Given the description of an element on the screen output the (x, y) to click on. 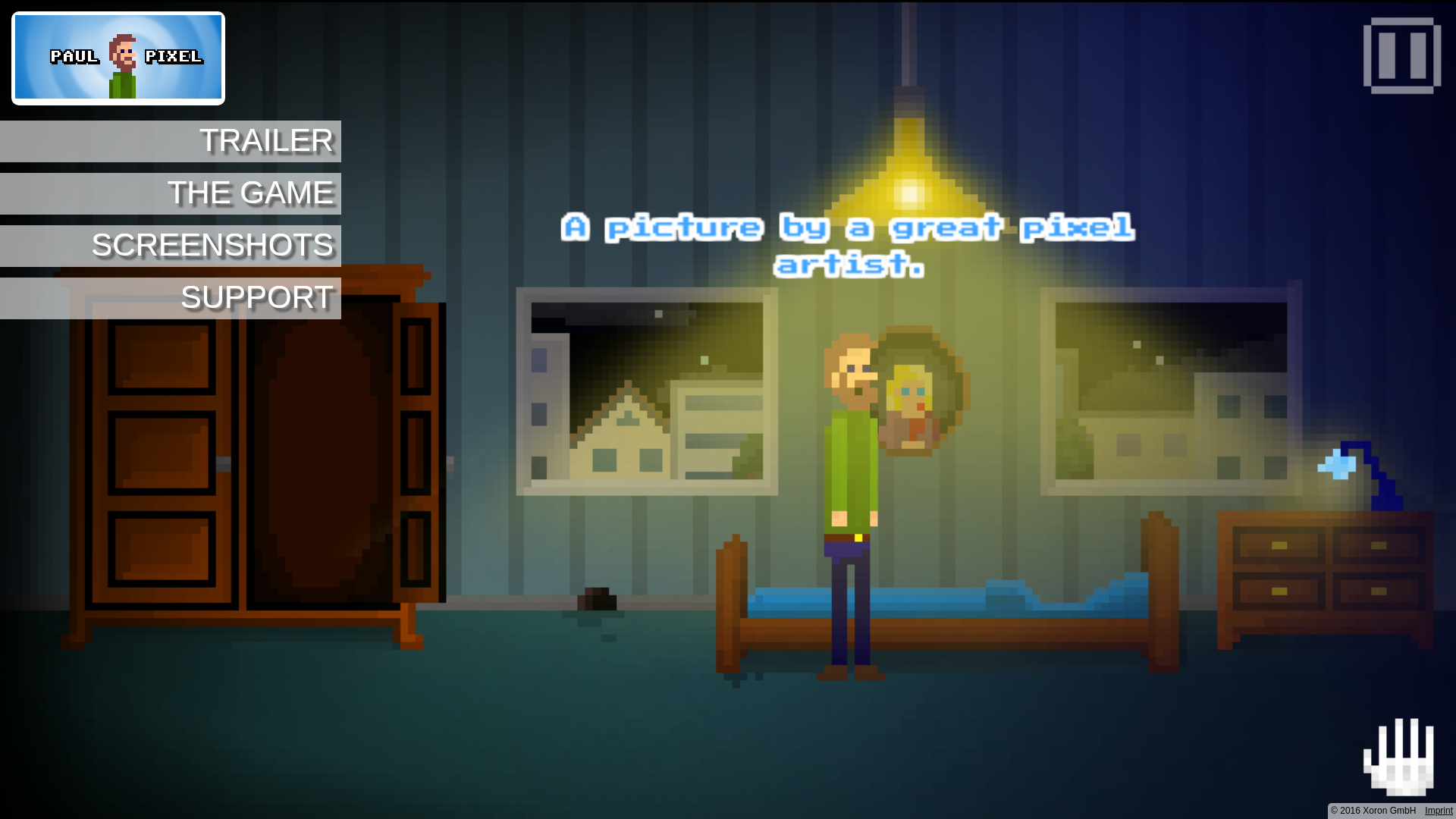
Imprint Element type: text (1438, 810)
